Given the description of an element on the screen output the (x, y) to click on. 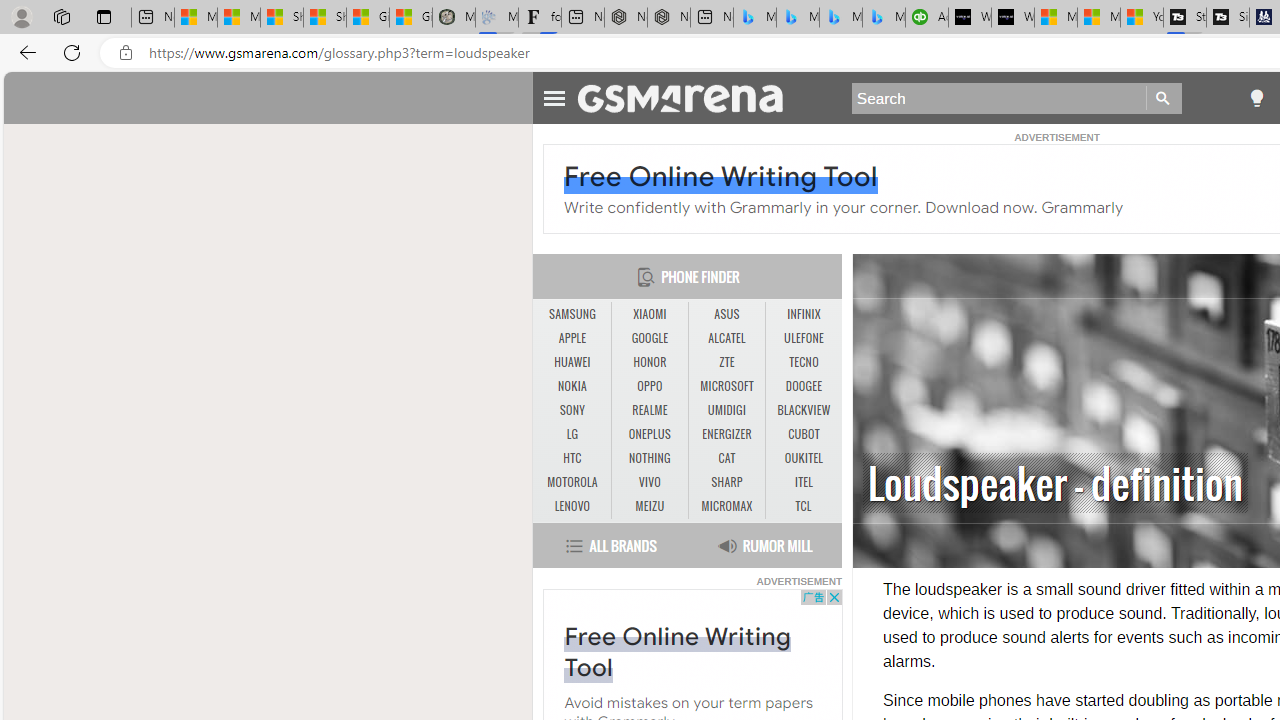
Toggle Navigation (553, 95)
SHARP (726, 482)
DOOGEE (803, 386)
REALME (649, 411)
NOTHING (649, 458)
ULEFONE (803, 338)
CUBOT (803, 434)
HTC (571, 458)
INFINIX (803, 313)
SAMSUNG (571, 314)
ENERGIZER (726, 434)
